Given the description of an element on the screen output the (x, y) to click on. 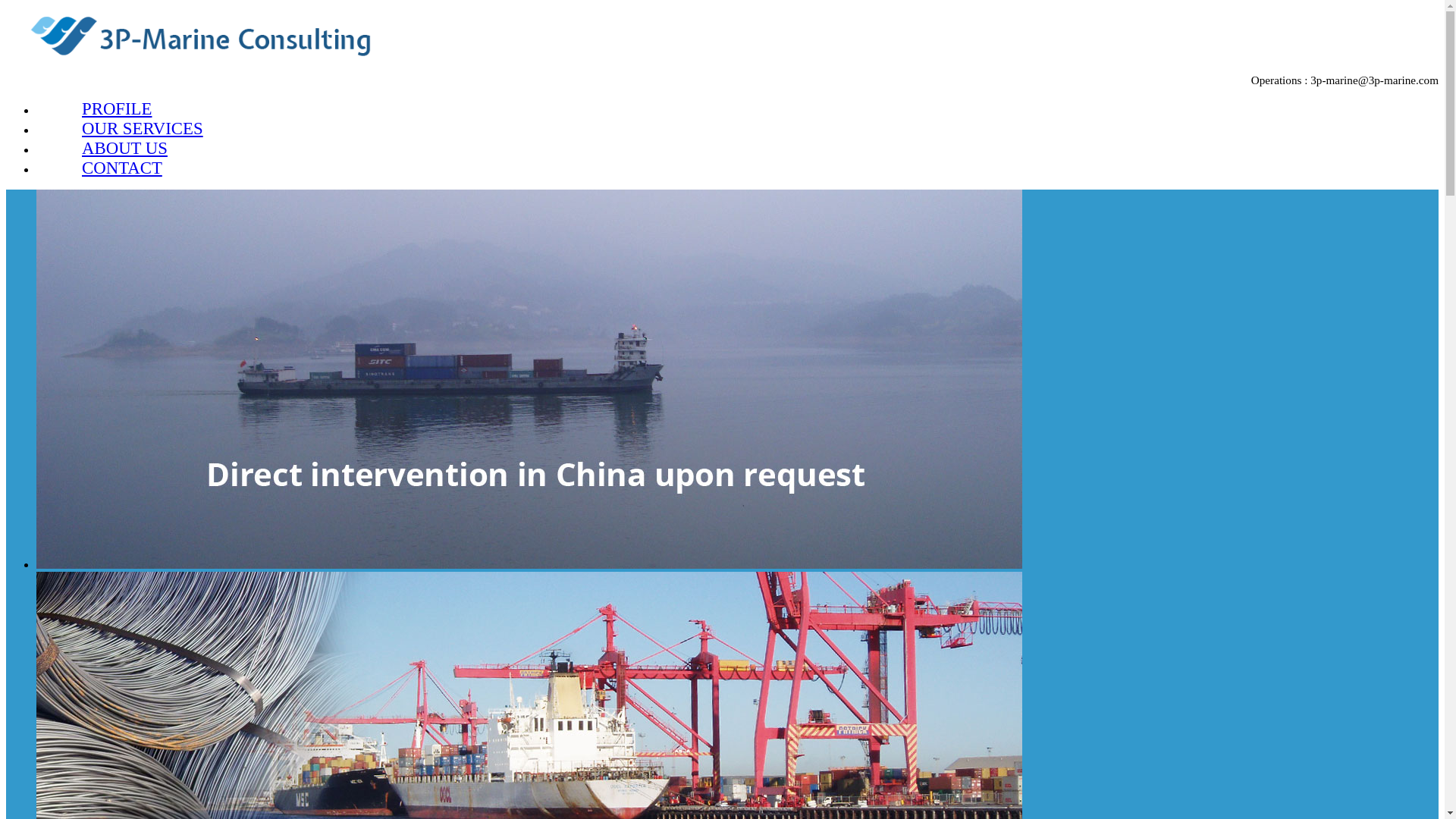
PROFILE Element type: text (116, 108)
OUR SERVICES Element type: text (142, 128)
ABOUT US Element type: text (124, 148)
CONTACT Element type: text (121, 167)
